Given the description of an element on the screen output the (x, y) to click on. 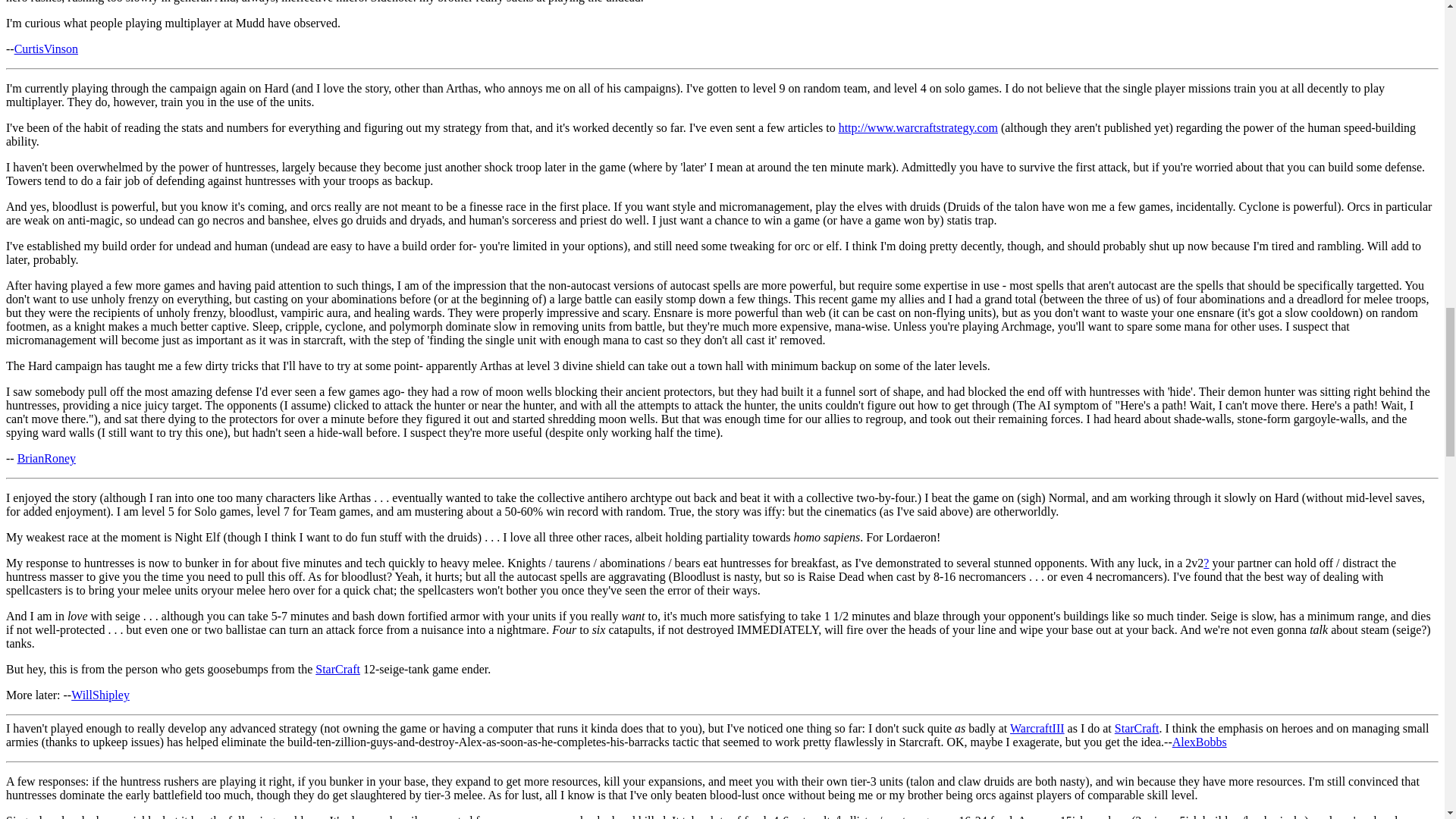
WarcraftIII (1037, 727)
AlexBobbs (1199, 741)
StarCraft (1136, 727)
BrianRoney (46, 458)
CurtisVinson (46, 48)
? (1206, 562)
WillShipley (100, 694)
StarCraft (337, 668)
